Given the description of an element on the screen output the (x, y) to click on. 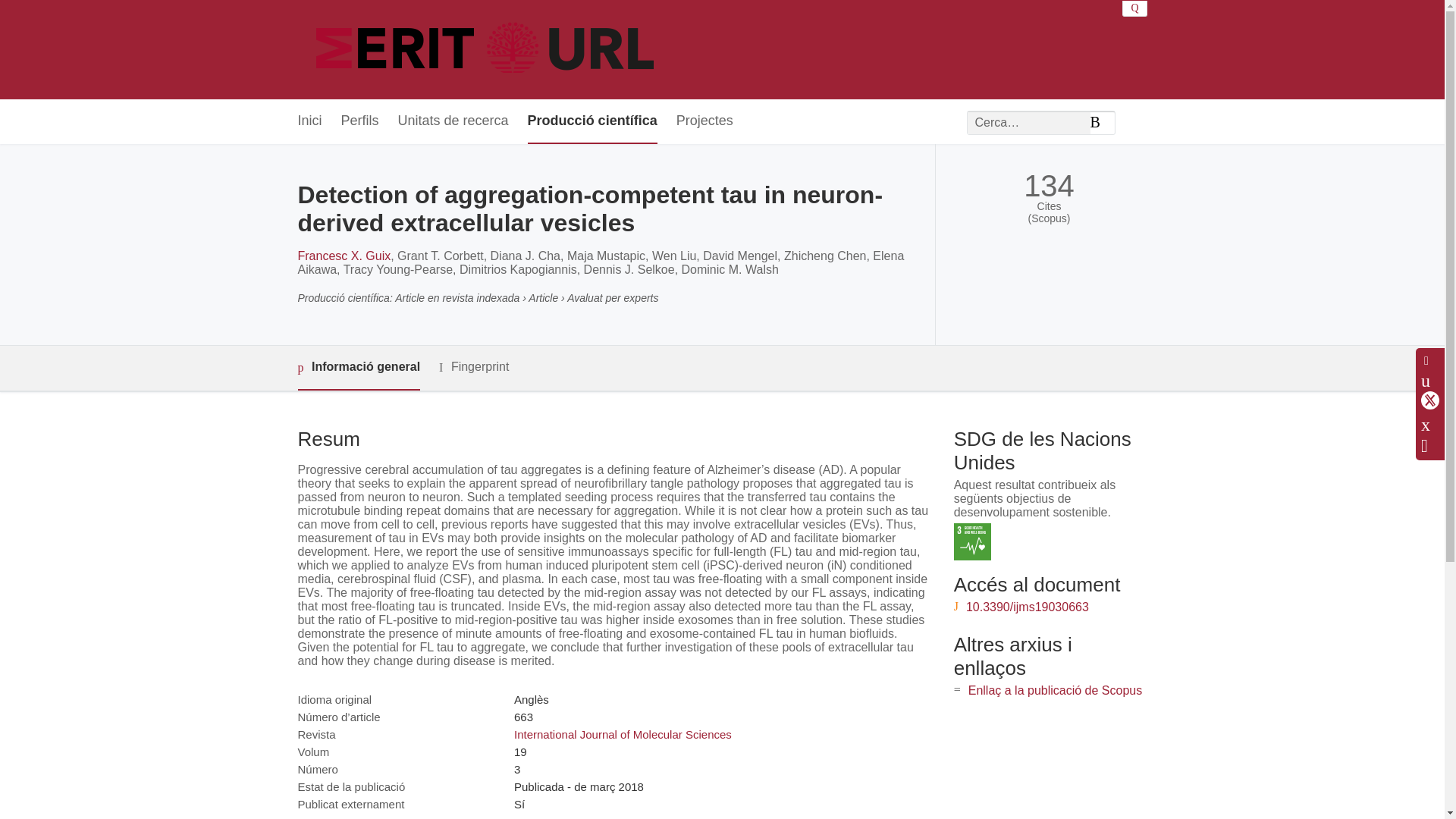
Unitats de recerca (452, 121)
Francesc X. Guix (343, 255)
Universitat Ramon Llull Inici (487, 49)
Fingerprint (473, 367)
International Journal of Molecular Sciences (622, 734)
ODS 3 - Salut i benestar (972, 541)
Projectes (705, 121)
